Given the description of an element on the screen output the (x, y) to click on. 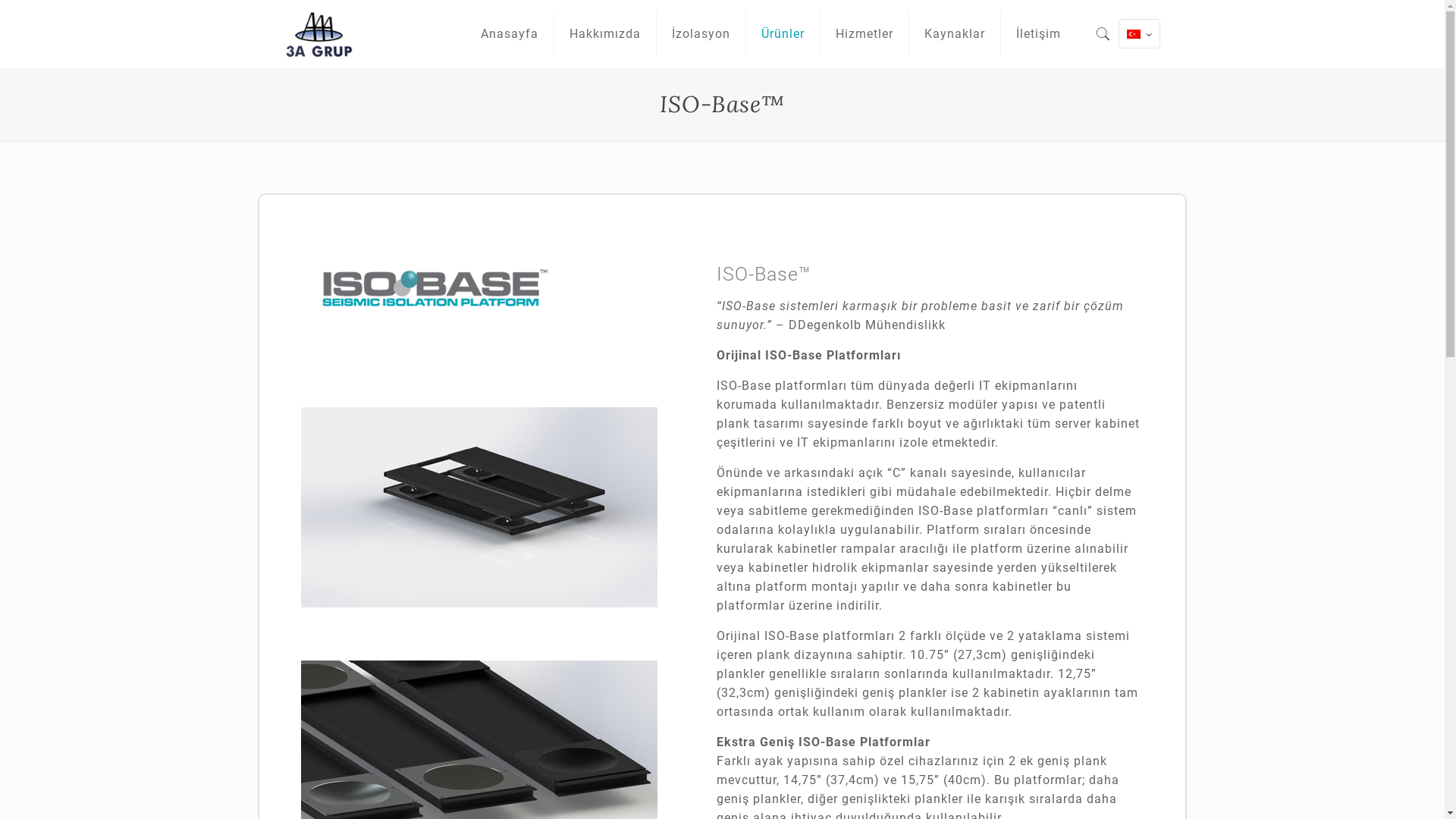
Hizmetler Element type: text (864, 34)
Kaynaklar Element type: text (955, 34)
3AGrup Element type: hover (321, 34)
Anasayfa Element type: text (509, 34)
